Given the description of an element on the screen output the (x, y) to click on. 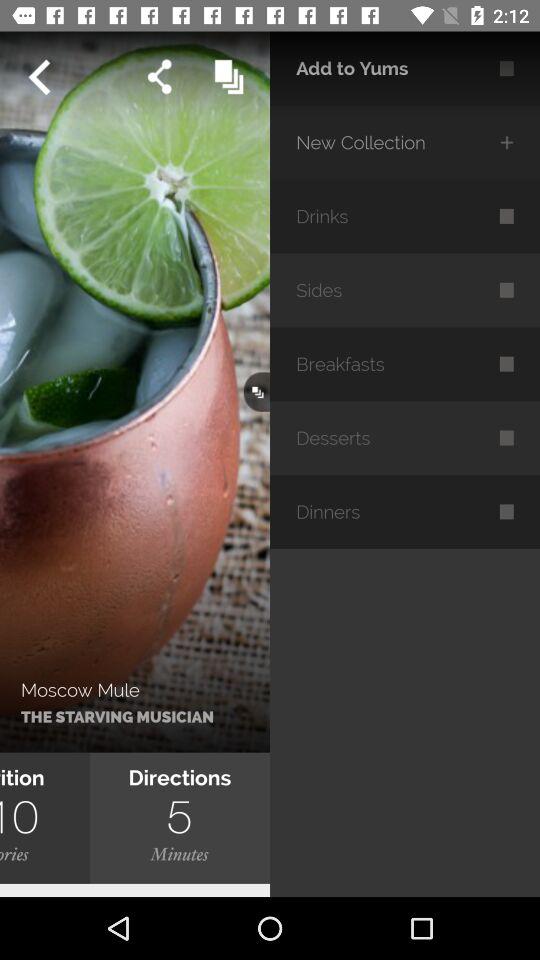
go back (39, 77)
